Given the description of an element on the screen output the (x, y) to click on. 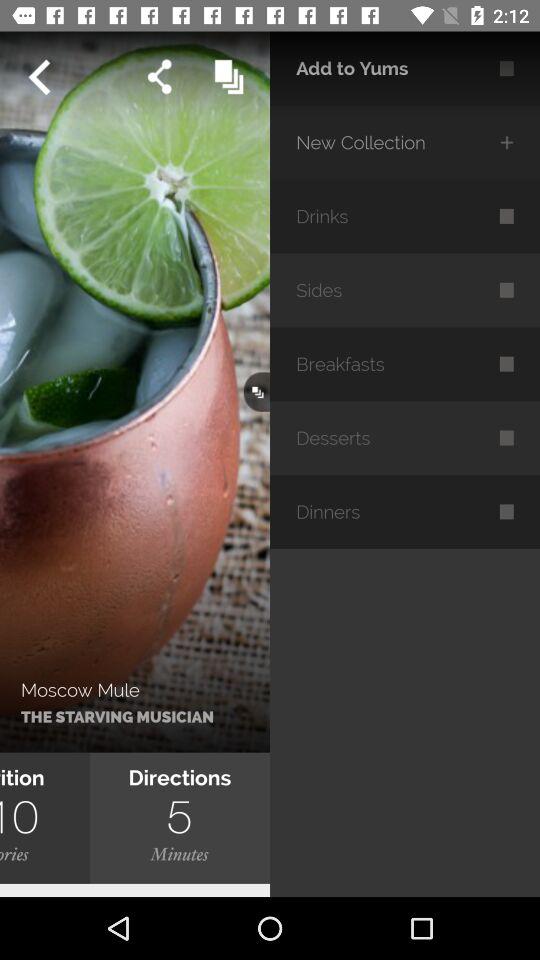
go back (39, 77)
